Given the description of an element on the screen output the (x, y) to click on. 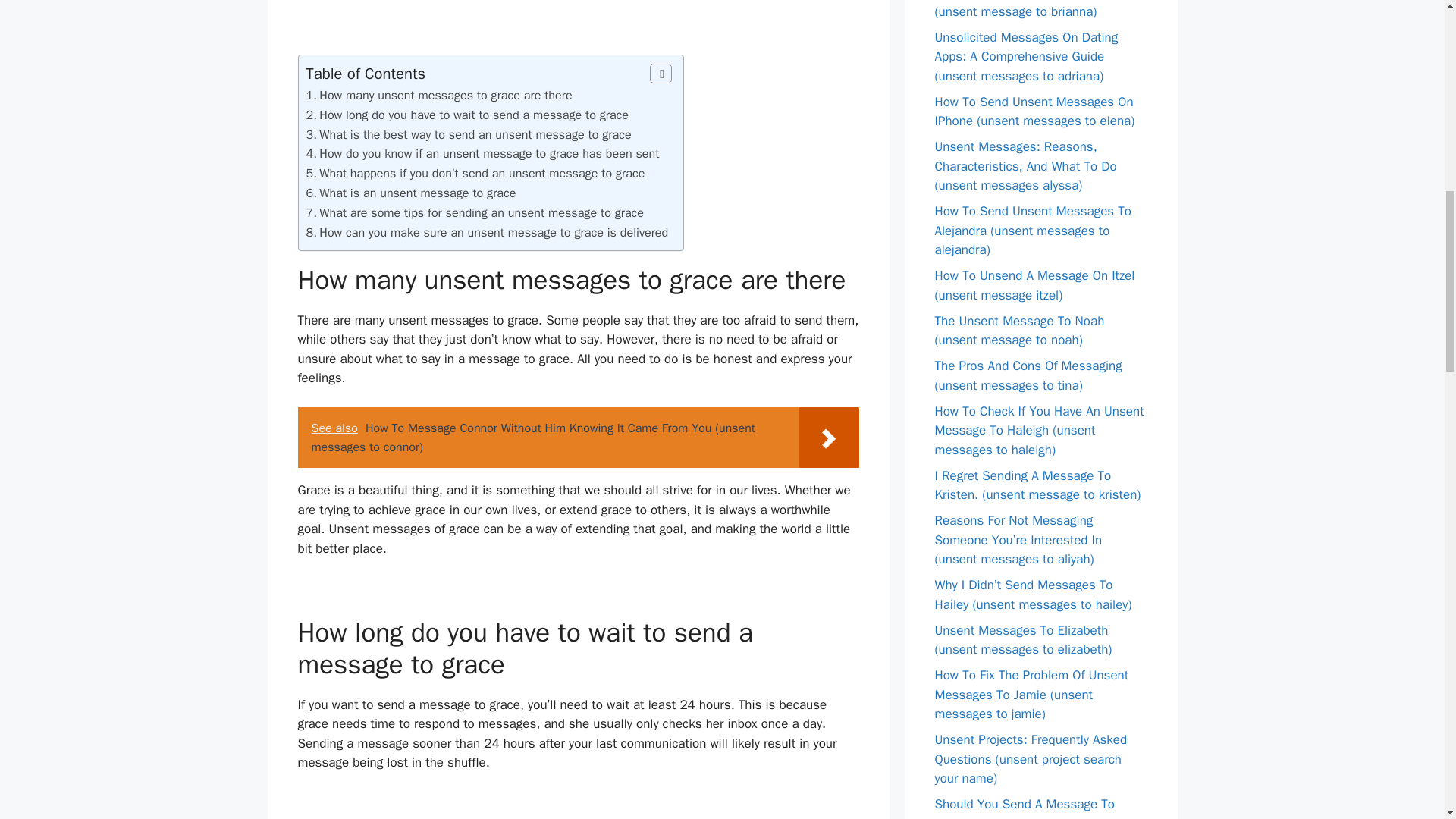
What is an unsent message to grace (416, 192)
What is an unsent message to grace (416, 192)
How long do you have to wait to send a message to grace (473, 114)
What is the best way to send an unsent message to grace (474, 134)
What is the best way to send an unsent message to grace (474, 134)
What are some tips for sending an unsent message to grace (480, 212)
What are some tips for sending an unsent message to grace (480, 212)
How many unsent messages to grace are there (445, 94)
How do you know if an unsent message to grace has been sent (488, 153)
How do you know if an unsent message to grace has been sent (488, 153)
How many unsent messages to grace are there (445, 94)
How long do you have to wait to send a message to grace (473, 114)
